Given the description of an element on the screen output the (x, y) to click on. 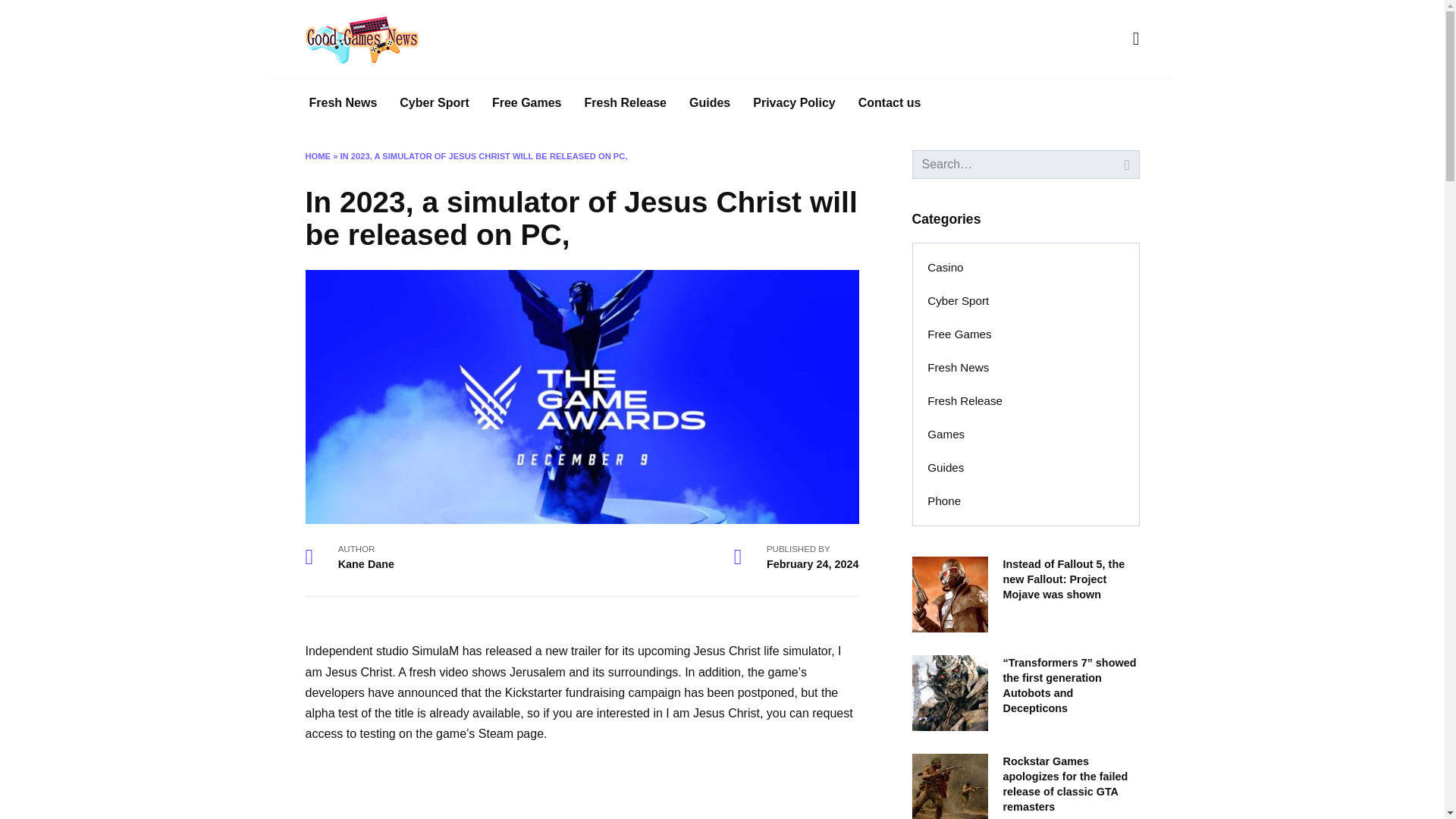
Fresh Release (964, 400)
Privacy Policy (794, 102)
Free Games (959, 334)
Phone (943, 500)
Cyber Sport (958, 300)
Fresh News (958, 367)
Fresh News (342, 102)
Casino (945, 267)
